Given the description of an element on the screen output the (x, y) to click on. 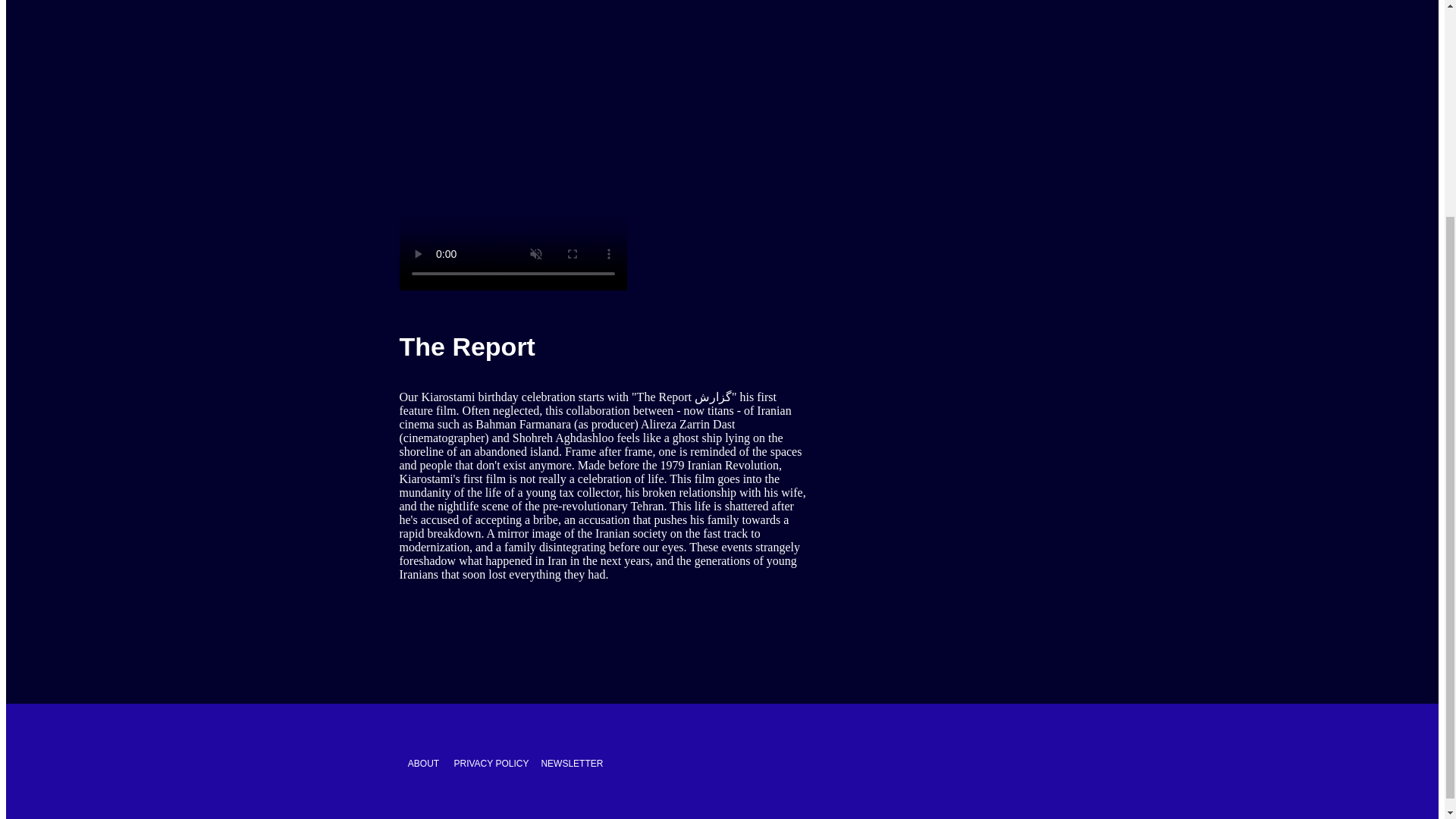
PRIVACY POLICY (490, 763)
NEWSLETTER (571, 763)
ABOUT (423, 763)
NEWSLETTER (571, 763)
PRIVACY POLICY (490, 763)
ABOUT (422, 763)
